Given the description of an element on the screen output the (x, y) to click on. 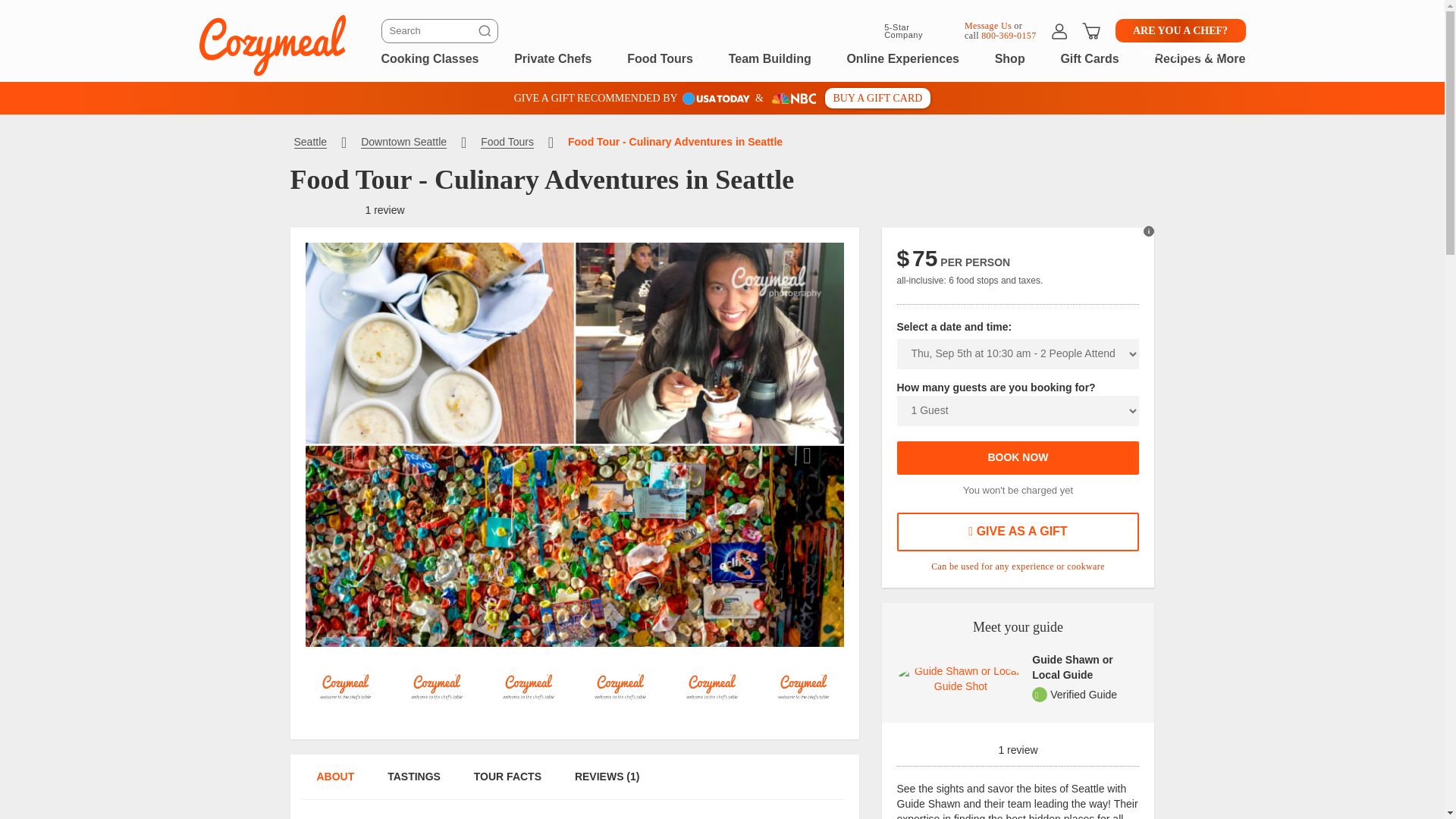
1 review (1017, 745)
ABOUT (334, 784)
Message Us (987, 24)
TASTINGS (413, 784)
Cooking Classes (429, 58)
1 review (384, 209)
TOUR FACTS (508, 784)
800-369-0157 (1008, 35)
